Given the description of an element on the screen output the (x, y) to click on. 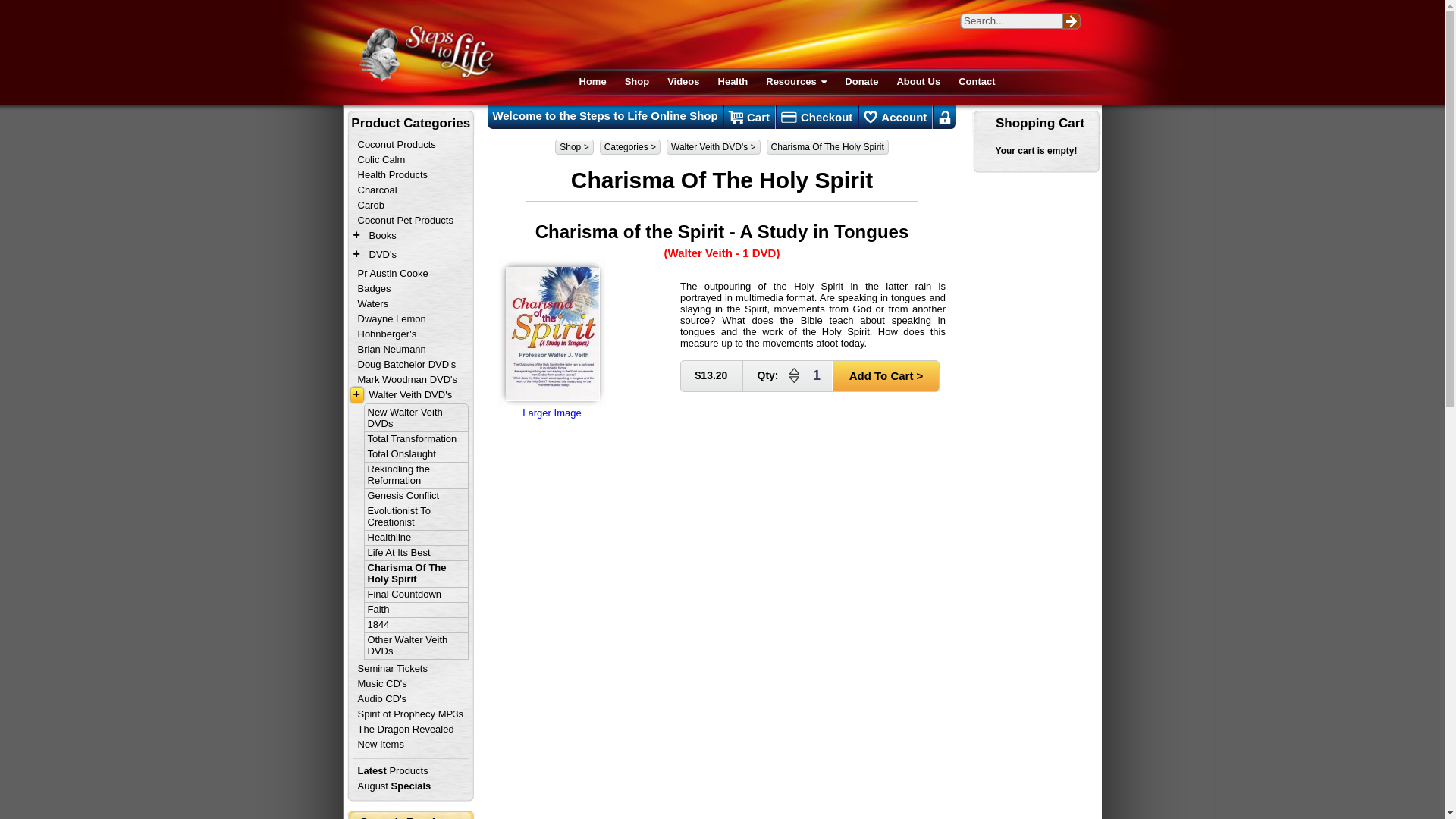
Login (945, 116)
1 (816, 375)
Search... (1010, 20)
Steps to Life Australia (425, 52)
